Given the description of an element on the screen output the (x, y) to click on. 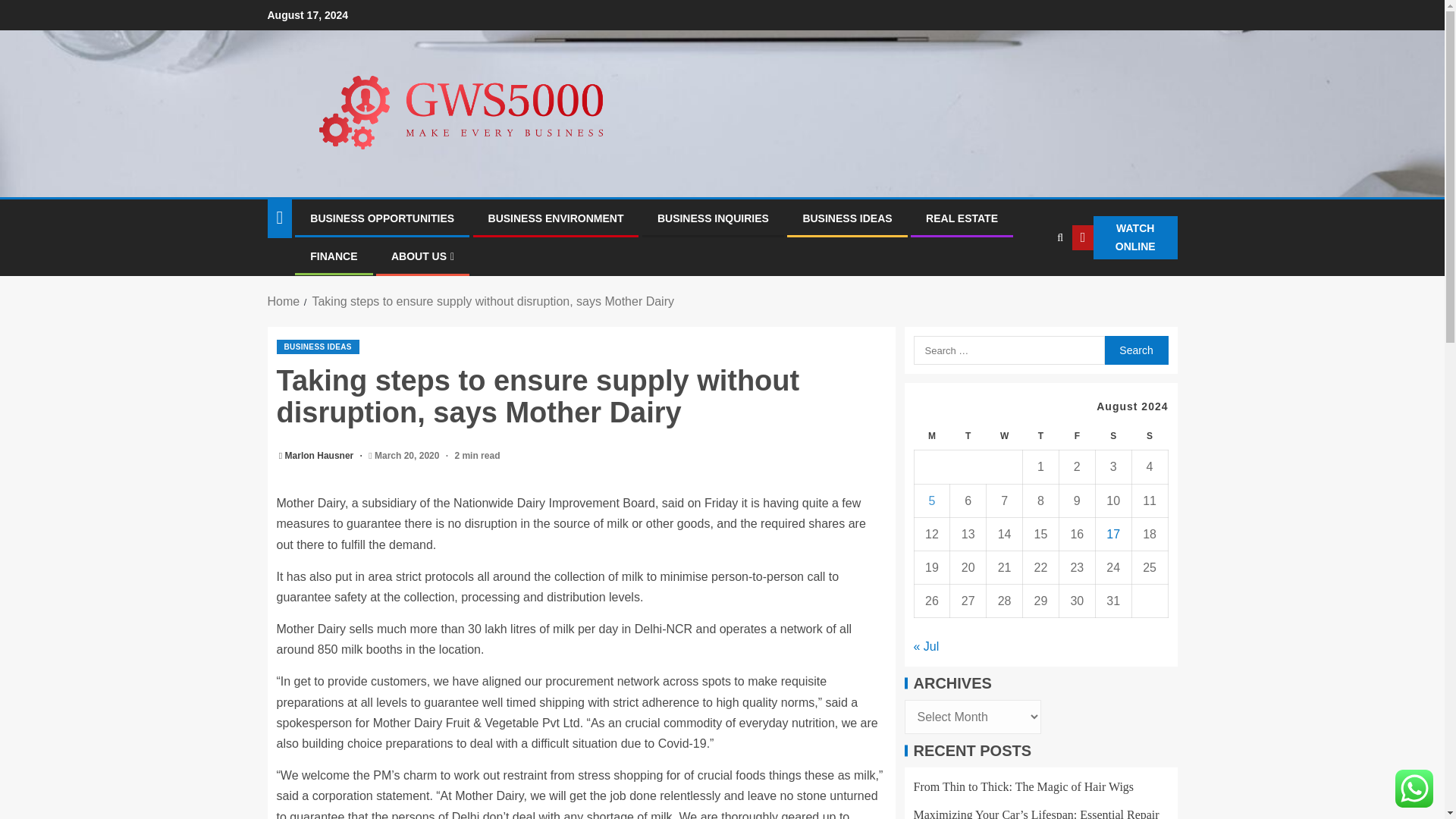
Marlon Hausner (320, 455)
BUSINESS IDEAS (317, 346)
Wednesday (1005, 436)
Search (1135, 349)
Monday (932, 436)
Sunday (1149, 436)
BUSINESS INQUIRIES (713, 218)
FINANCE (333, 256)
BUSINESS ENVIRONMENT (555, 218)
